Given the description of an element on the screen output the (x, y) to click on. 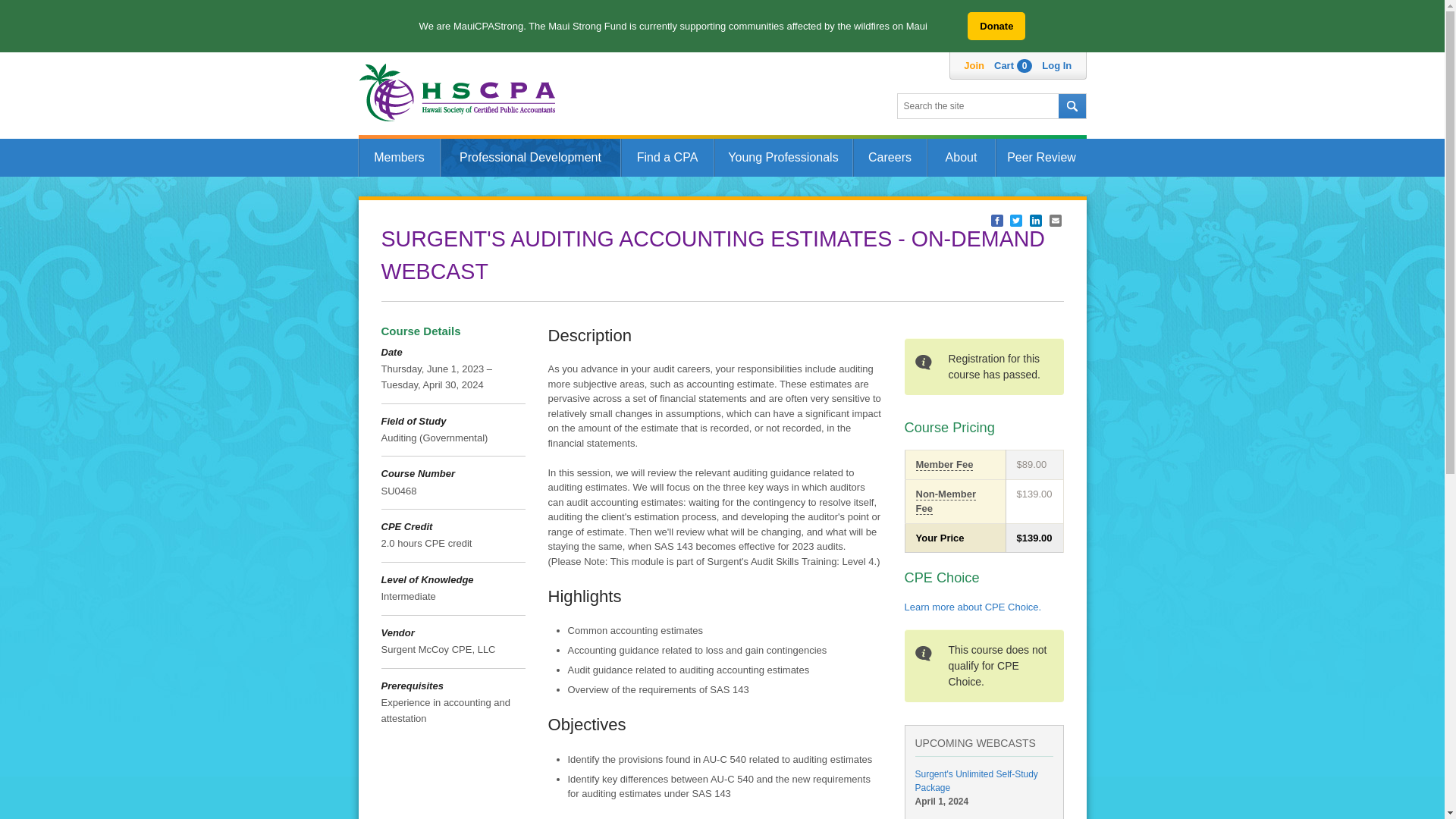
Cart 0 (1013, 65)
Peer Review (1040, 157)
Find a CPA (666, 157)
Log In (1056, 65)
Professional Development (529, 157)
Young Professionals (782, 157)
Join (973, 65)
Members (398, 157)
Donate (996, 26)
Careers (888, 157)
About (960, 157)
Learn more about CPE Choice. (972, 606)
